Given the description of an element on the screen output the (x, y) to click on. 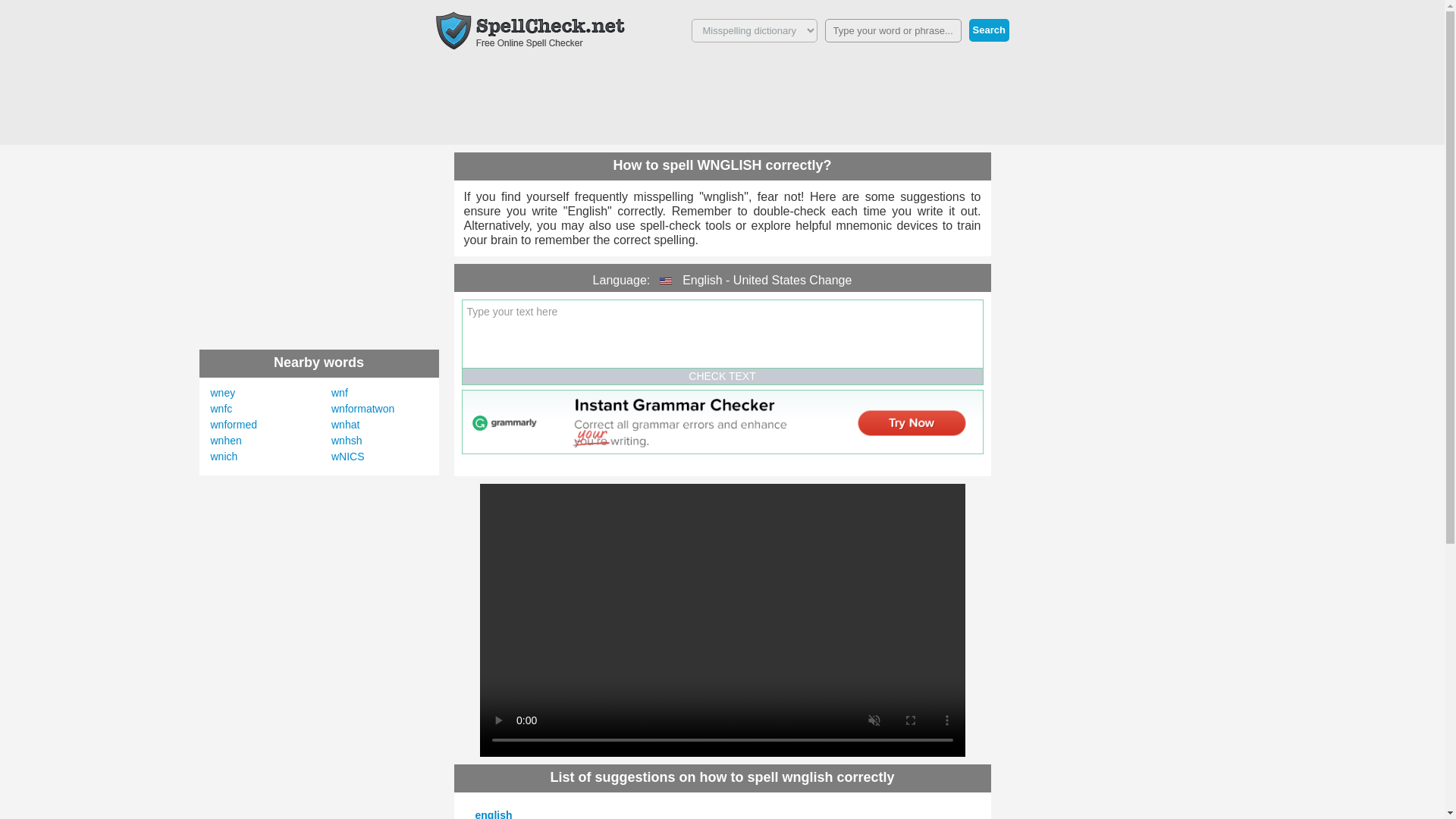
Search (989, 29)
wnich (224, 456)
wnhat (345, 424)
wnf (339, 392)
wnfc (221, 408)
wnhsh (346, 440)
wnformatwon (362, 408)
Change (830, 279)
wnformed (234, 424)
wney (223, 392)
wnhen (226, 440)
wney (223, 392)
wnformed (234, 424)
wnformatwon (362, 408)
Spellcheck.net (529, 30)
